Given the description of an element on the screen output the (x, y) to click on. 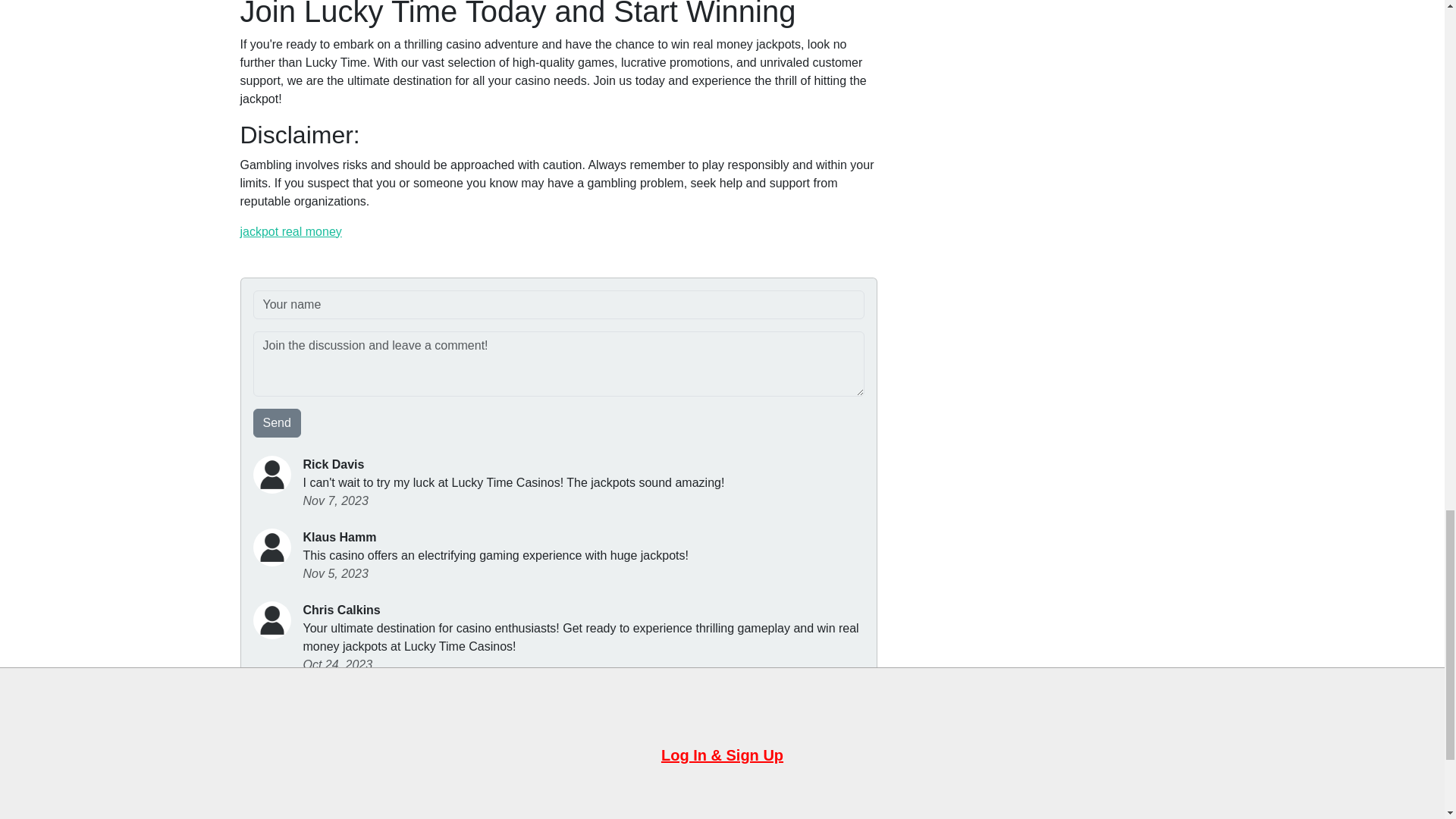
Send (277, 422)
Send (277, 422)
jackpot real money (290, 231)
